Given the description of an element on the screen output the (x, y) to click on. 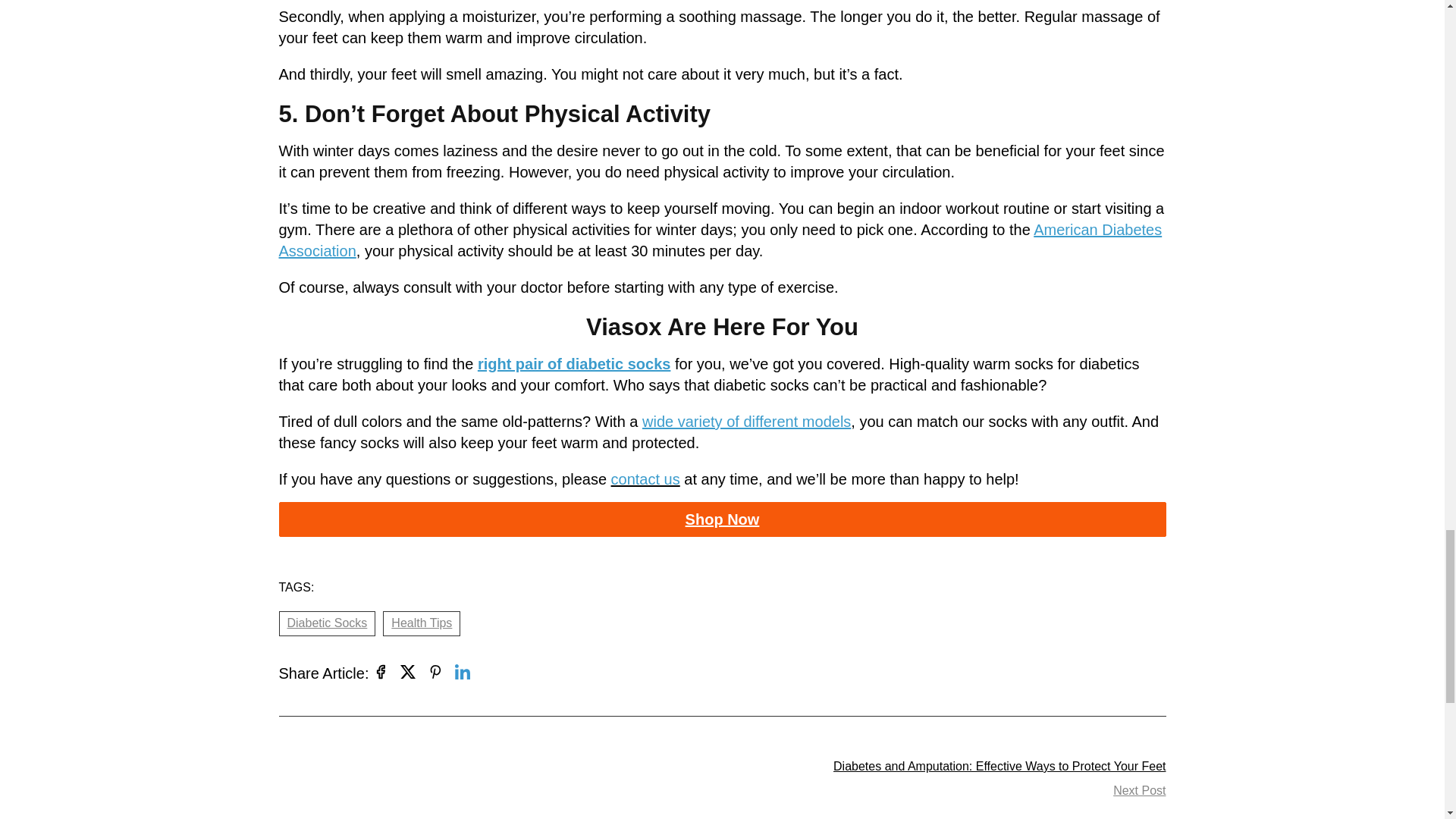
Diabetic Socks (327, 622)
wide variety of different models (746, 421)
Our diabetic socks collections (722, 519)
American Diabetes Association (720, 240)
Diabetic socks for women collection (574, 363)
Health Tips (421, 622)
Next Post (1139, 790)
Contact us (645, 478)
Exercise and diabetes (720, 240)
right pair of diabetic socks (574, 363)
Viasox diabetic socks collection (746, 421)
Diabetes and Amputation: Effective Ways to Protect Your Feet (999, 766)
contact us (645, 478)
Shop Now (722, 519)
